Given the description of an element on the screen output the (x, y) to click on. 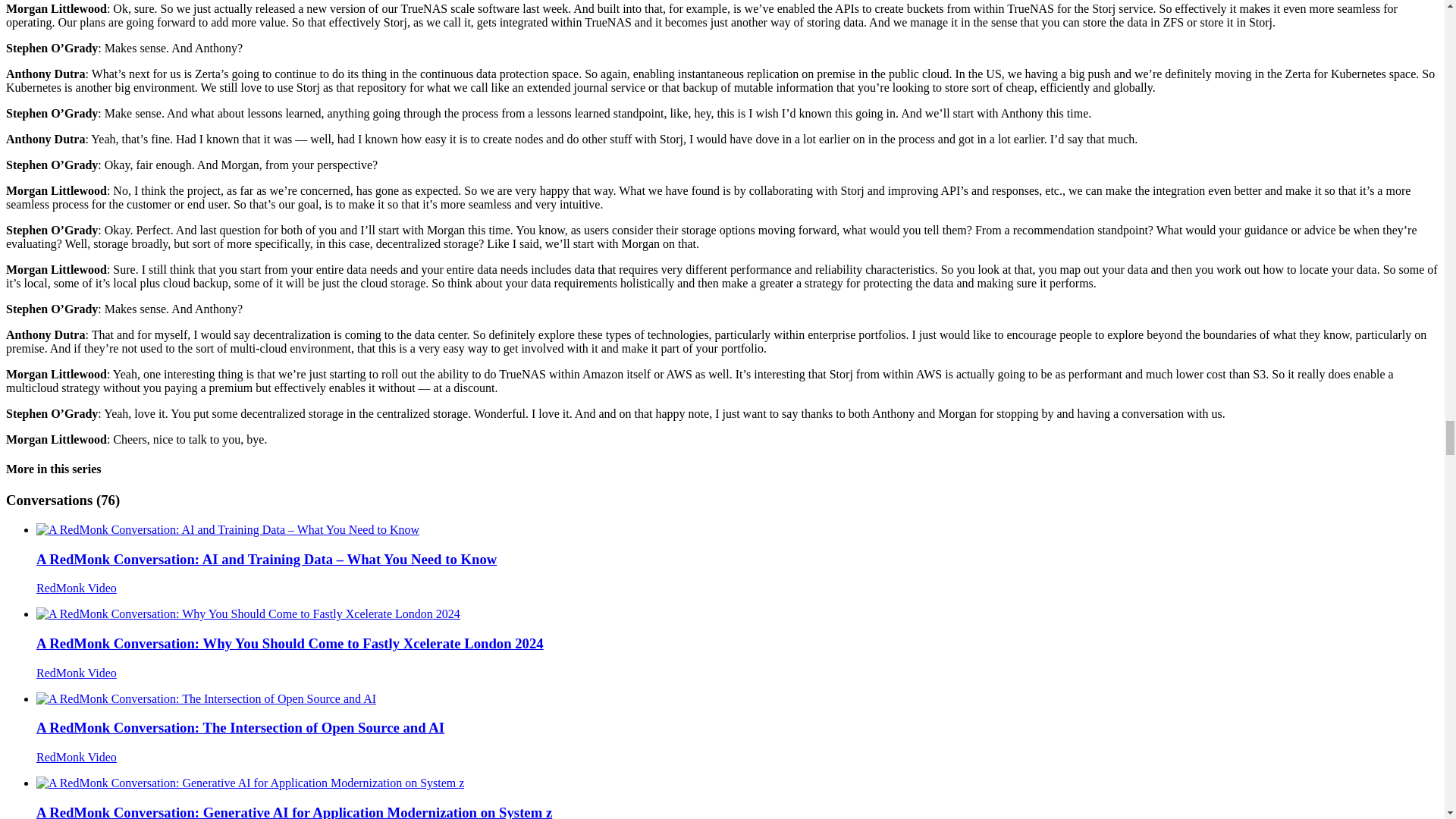
RedMonk Video (76, 587)
RedMonk Video (76, 672)
RedMonk Video (76, 757)
